Given the description of an element on the screen output the (x, y) to click on. 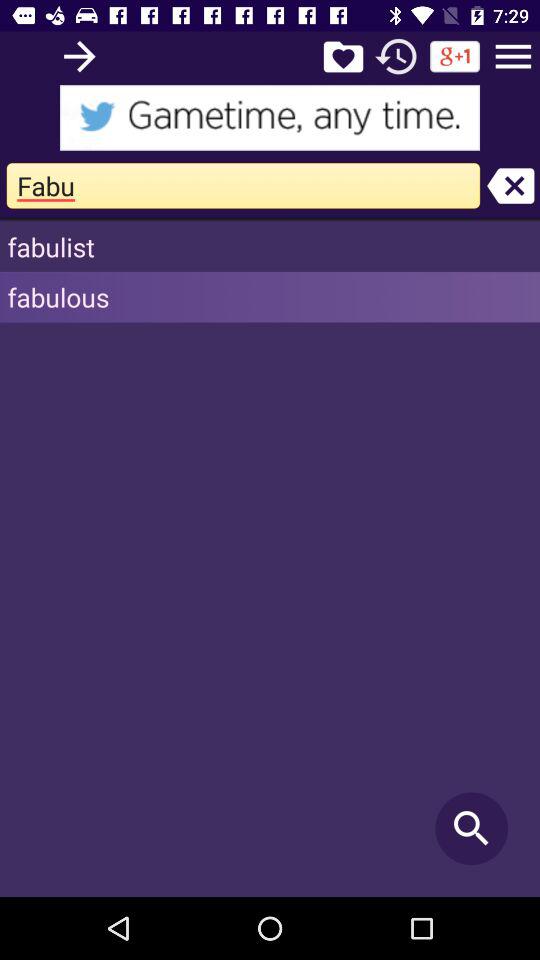
go to menu (513, 56)
